Given the description of an element on the screen output the (x, y) to click on. 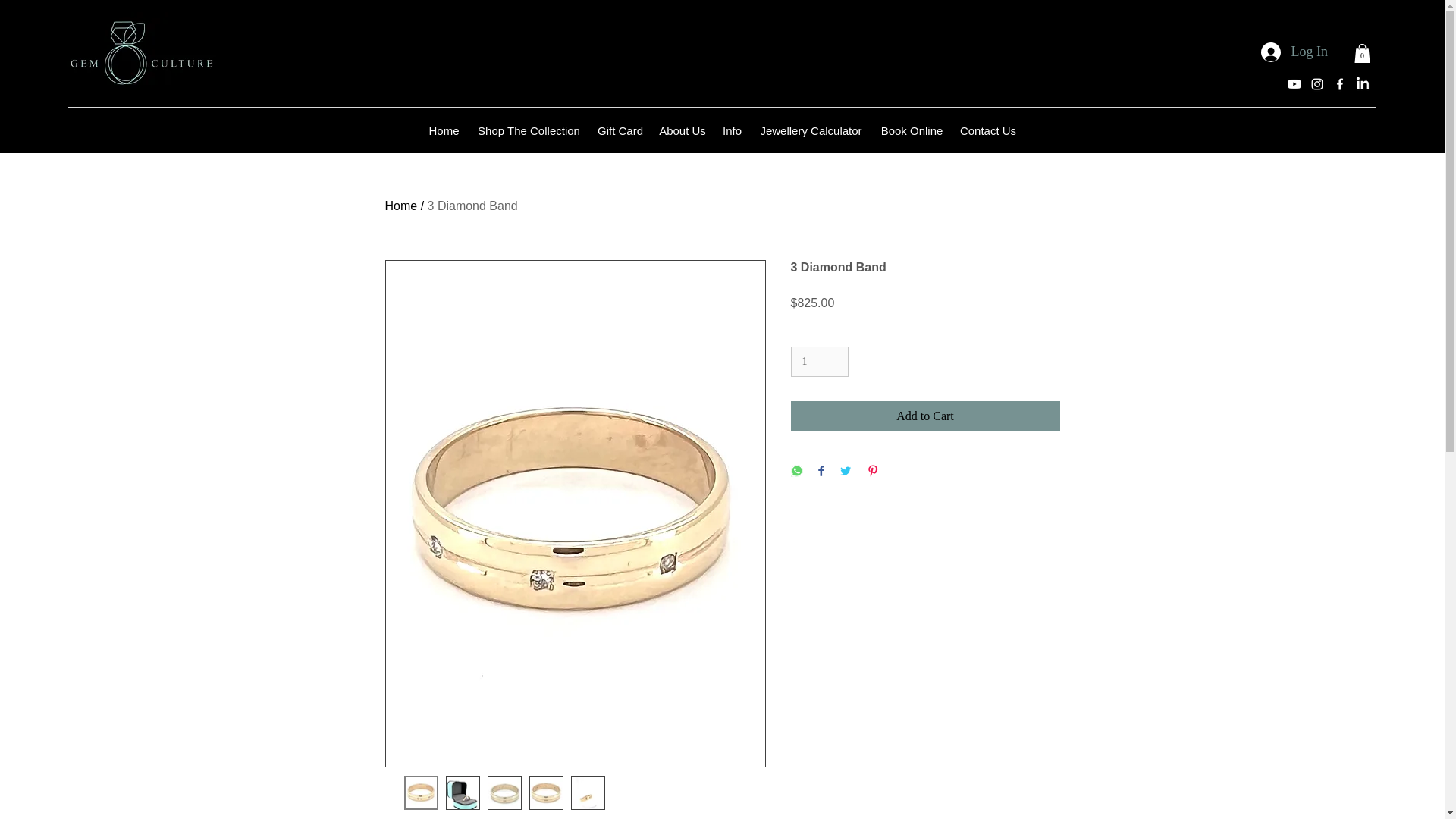
Jewellery Calculator (810, 130)
Home (443, 130)
3 Diamond Band (473, 205)
About Us (682, 130)
1 (818, 361)
Book Online (912, 130)
Shop The Collection (528, 130)
Info (731, 130)
Add to Cart (924, 416)
Log In (1293, 52)
